Given the description of an element on the screen output the (x, y) to click on. 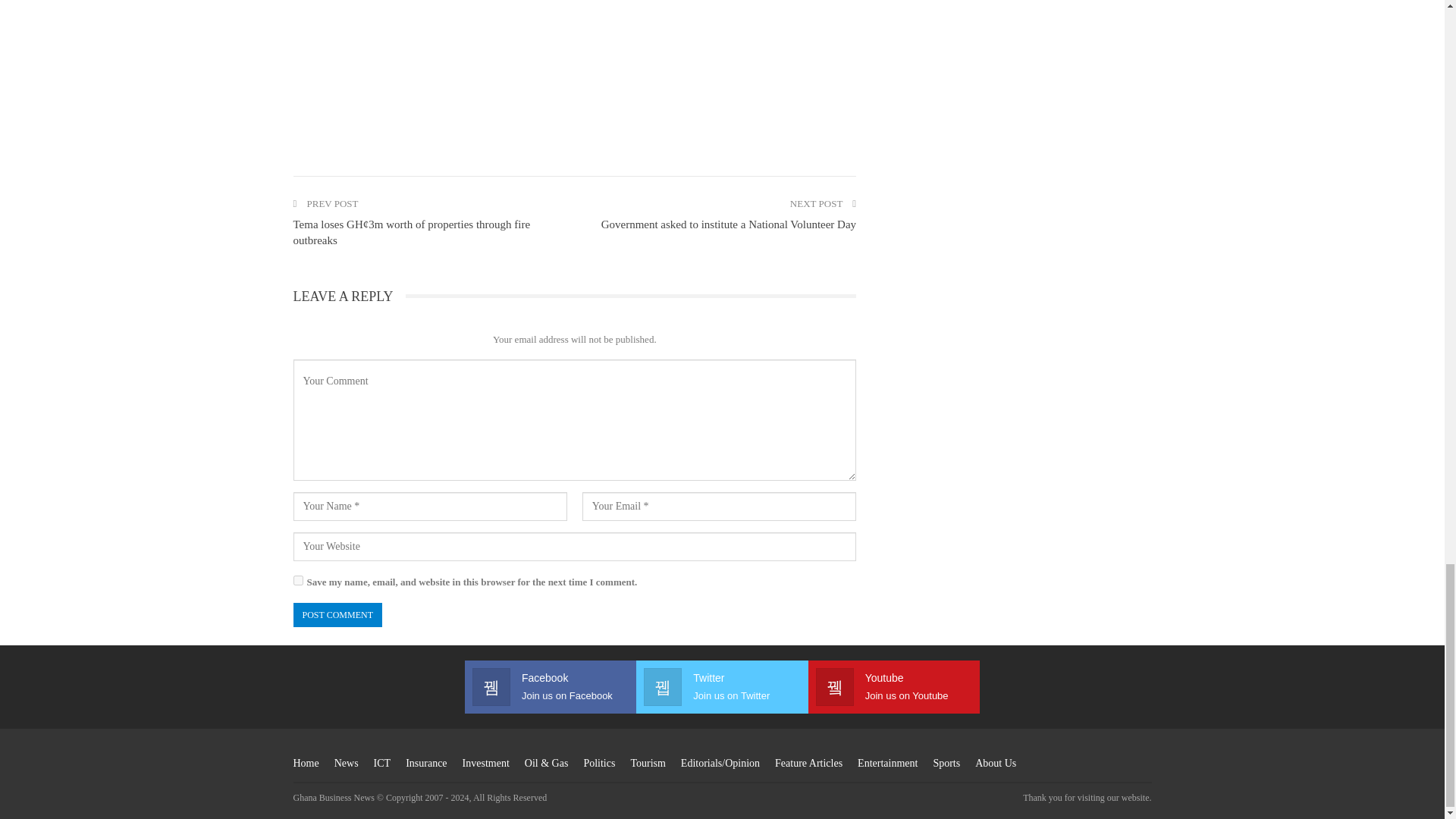
Government asked to institute a National Volunteer Day (728, 224)
Post Comment (336, 614)
yes (297, 580)
Post Comment (336, 614)
